Given the description of an element on the screen output the (x, y) to click on. 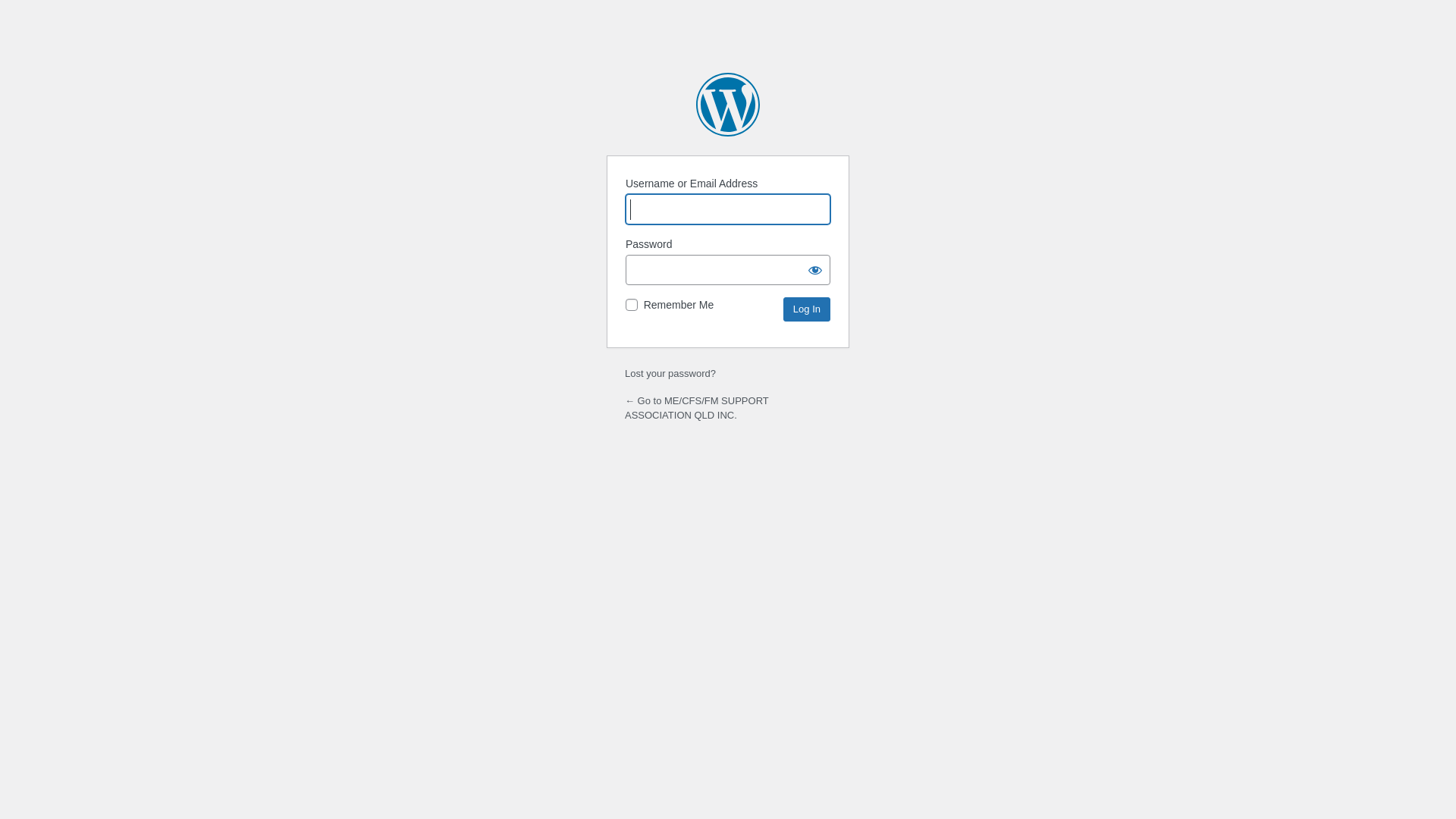
Log In Element type: text (806, 309)
Lost your password? Element type: text (669, 373)
Powered by WordPress Element type: text (727, 104)
